Given the description of an element on the screen output the (x, y) to click on. 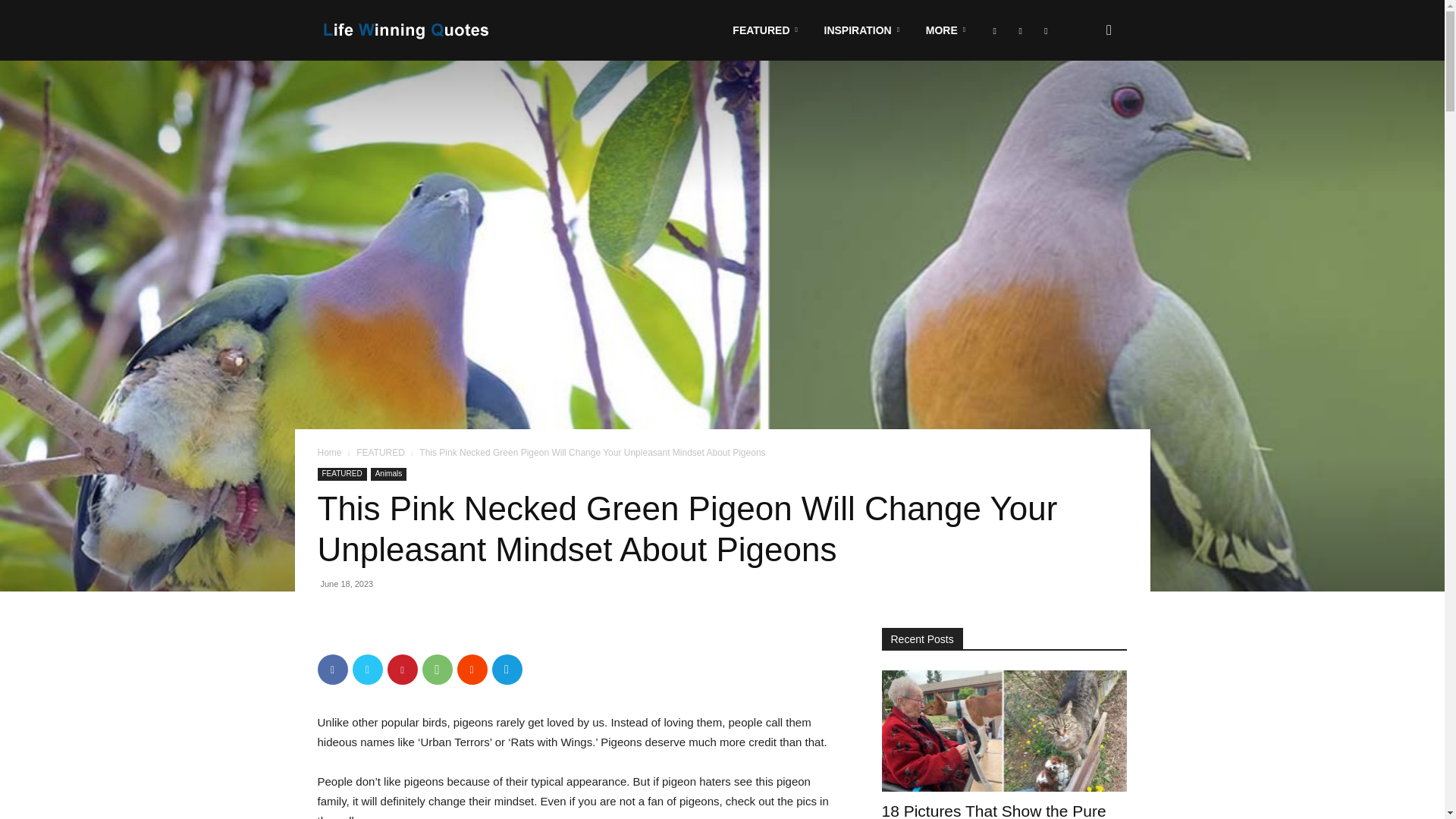
View all posts in FEATURED (380, 452)
Search (1085, 102)
Life Winning Quotes (406, 30)
Facebook (332, 669)
Twitter (366, 669)
topFacebookLike (430, 635)
Pinterest (401, 669)
WhatsApp (436, 669)
FEATURED (767, 30)
